Given the description of an element on the screen output the (x, y) to click on. 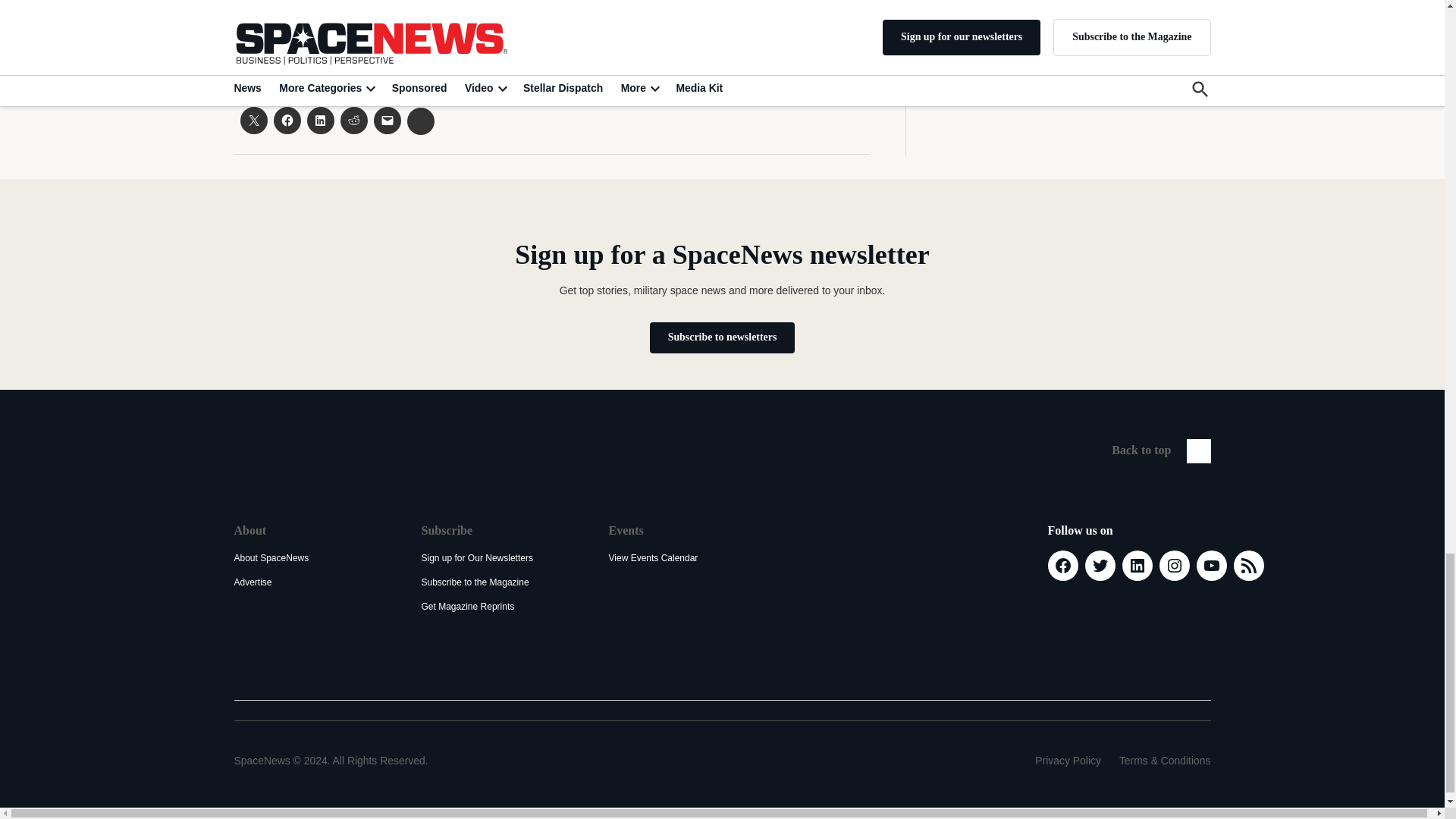
Click to share on X (253, 120)
Click to share on LinkedIn (319, 120)
Click to share on Reddit (352, 120)
Click to email a link to a friend (386, 120)
Click to share on Facebook (286, 120)
Click to share on Clipboard (419, 121)
